Given the description of an element on the screen output the (x, y) to click on. 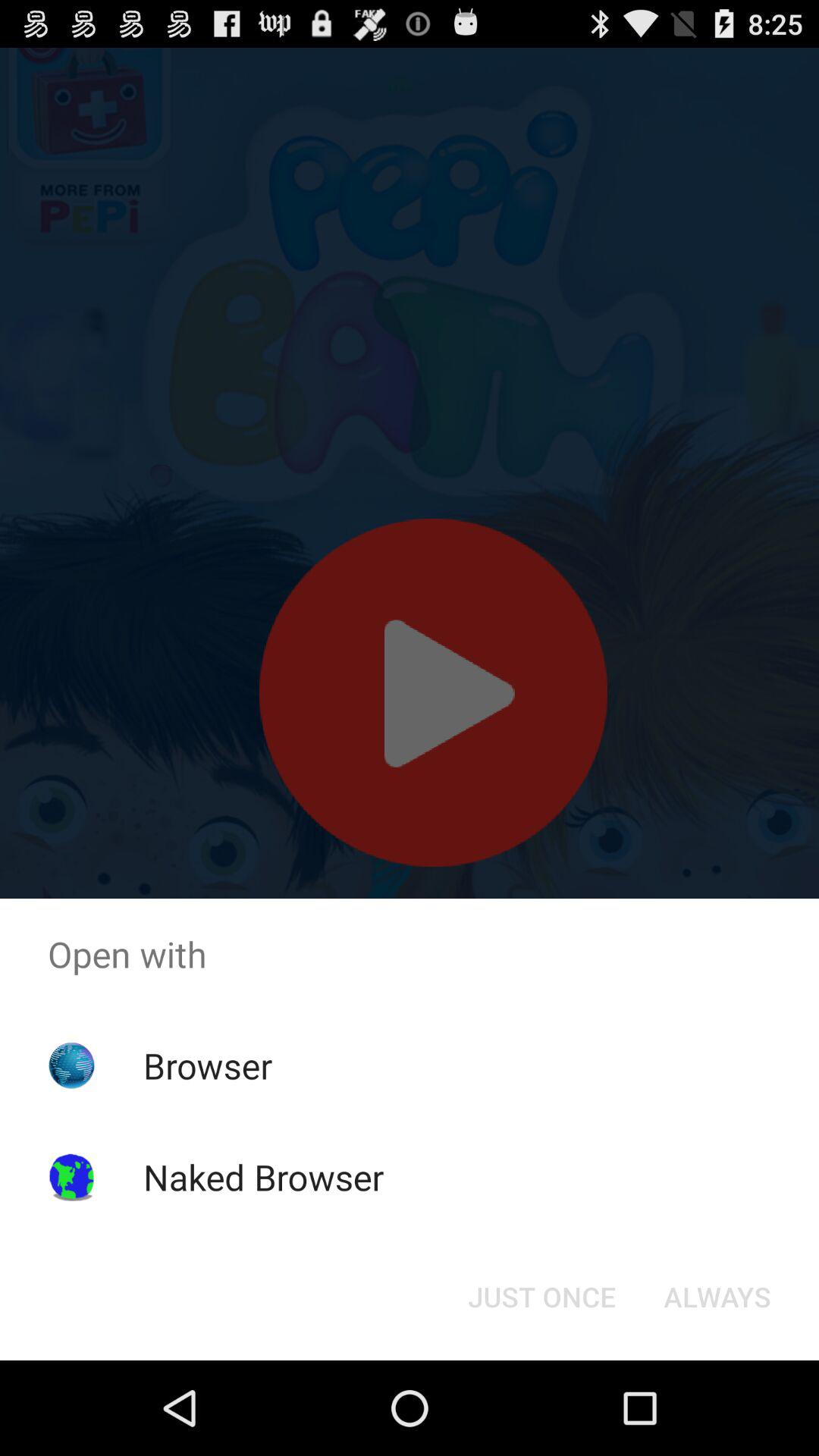
turn off naked browser item (263, 1176)
